Given the description of an element on the screen output the (x, y) to click on. 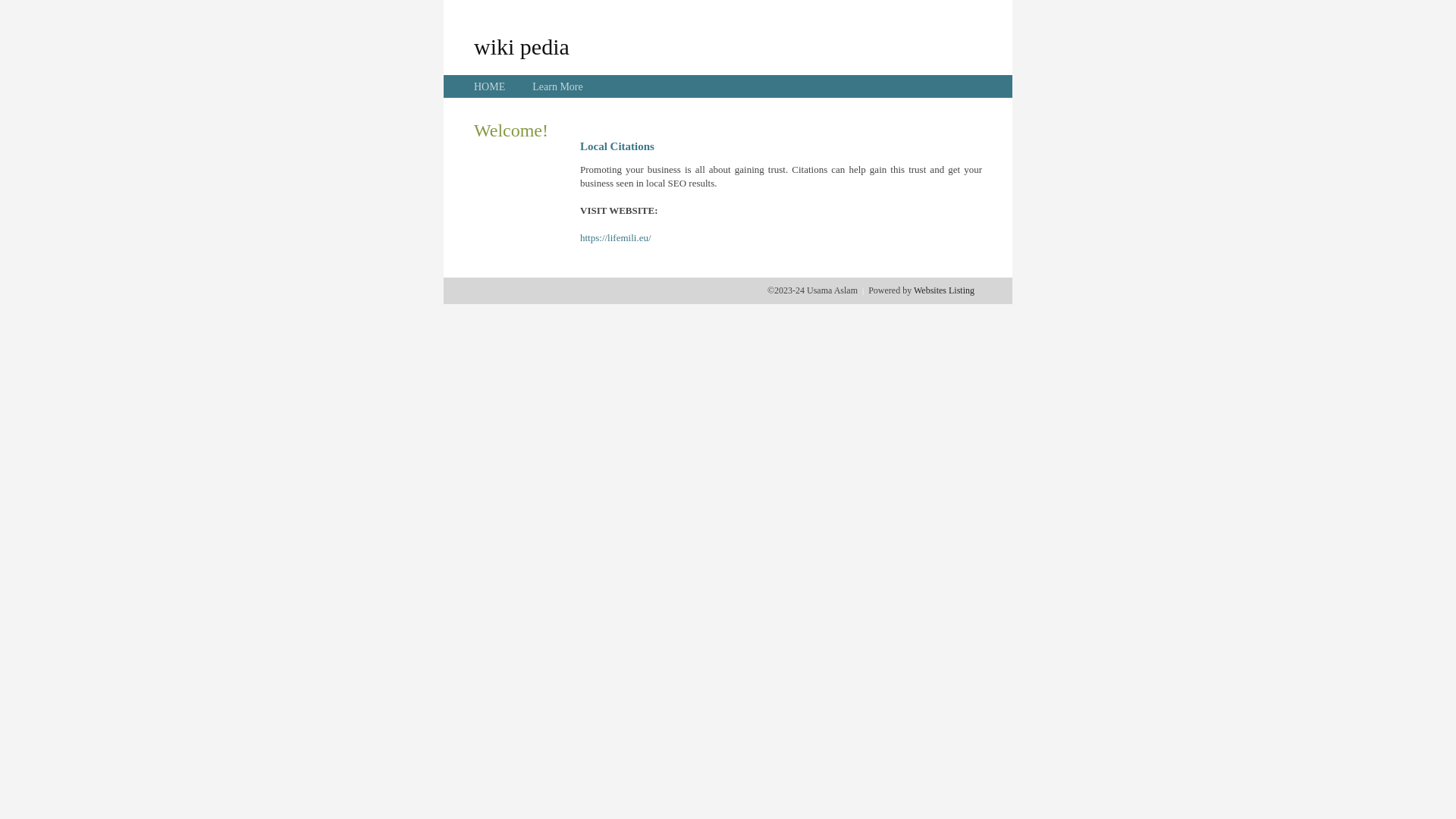
Websites Listing Element type: text (943, 290)
Learn More Element type: text (557, 86)
https://lifemili.eu/ Element type: text (615, 237)
wiki pedia Element type: text (521, 46)
HOME Element type: text (489, 86)
